Given the description of an element on the screen output the (x, y) to click on. 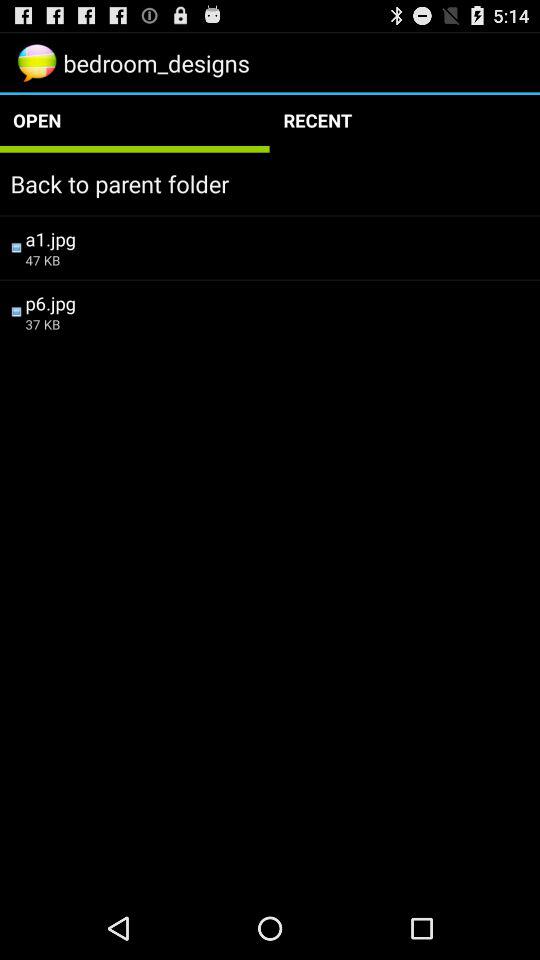
jump until 37 kb (277, 324)
